Given the description of an element on the screen output the (x, y) to click on. 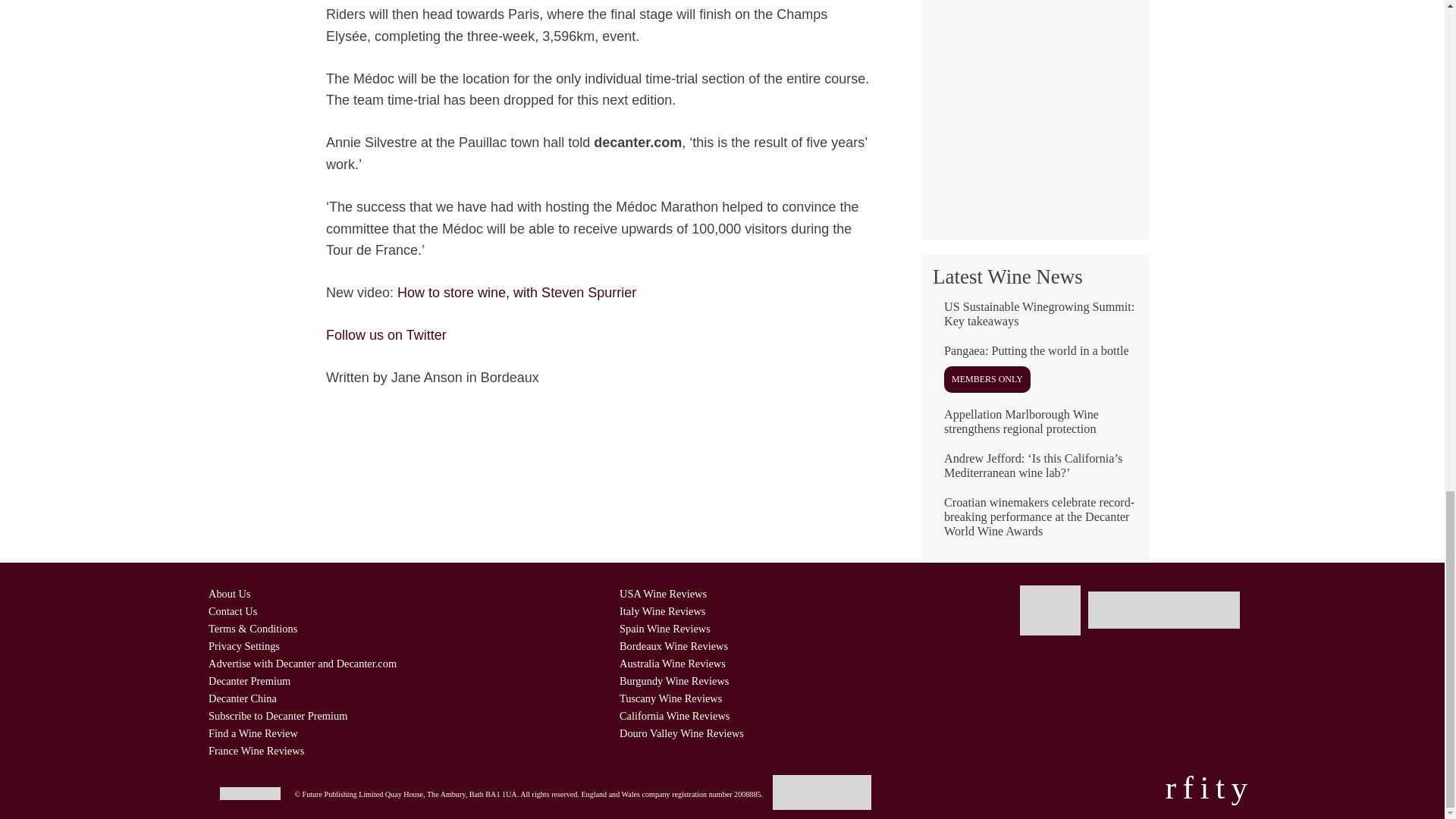
Appellation Marlborough Wine strengthens regional protection (1035, 427)
Pangaea: Putting the world in a bottle (1035, 373)
US Sustainable Winegrowing Summit: Key takeaways (1035, 320)
